Given the description of an element on the screen output the (x, y) to click on. 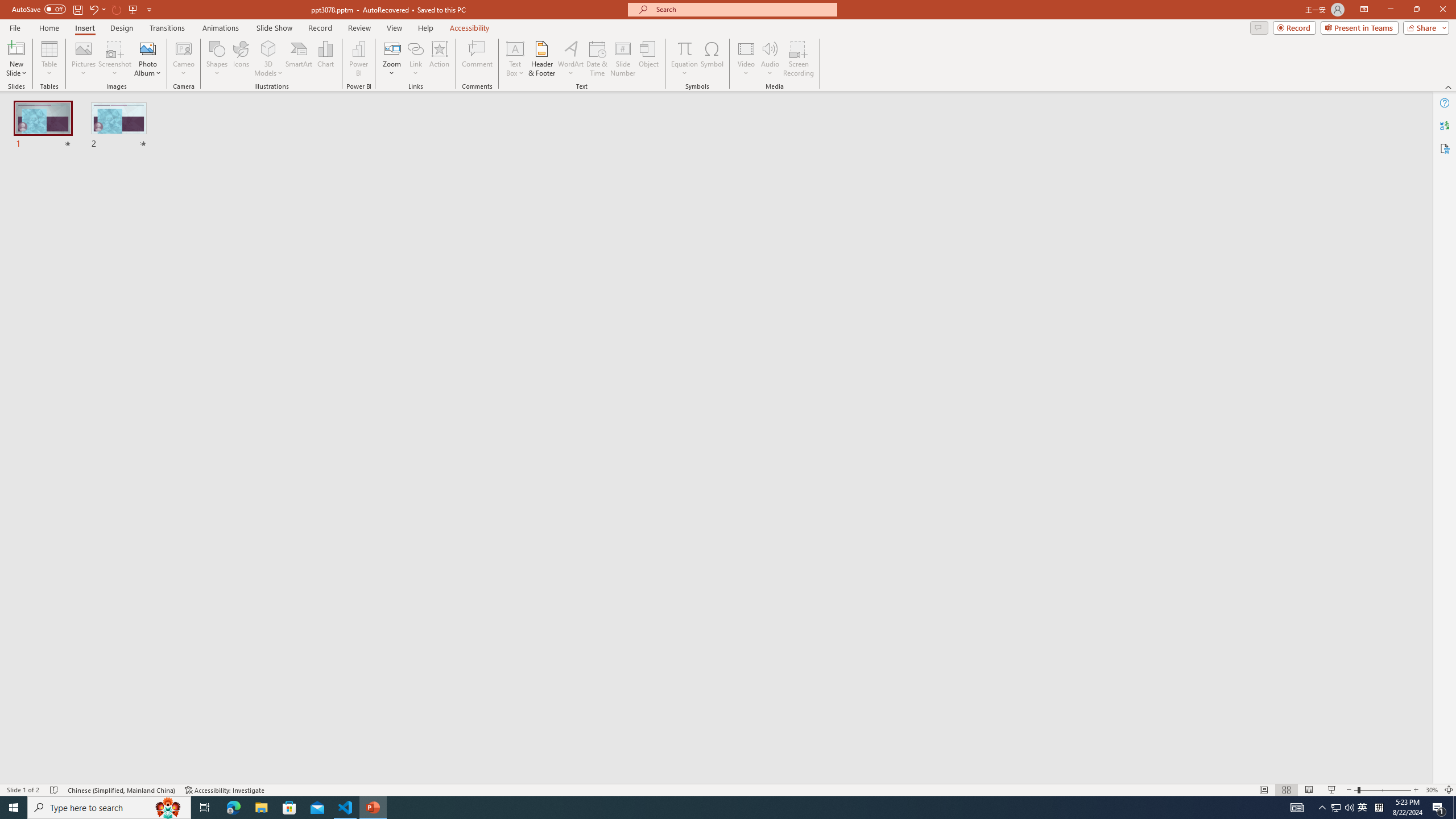
Wang Yian (760, 382)
Class: ___1lmltc5 f1agt3bx f12qytpq (962, 122)
Source Control (Ctrl+Shift+G) (76, 309)
Views and More Actions... (251, 182)
Earth - Wikipedia (23, 481)
